Given the description of an element on the screen output the (x, y) to click on. 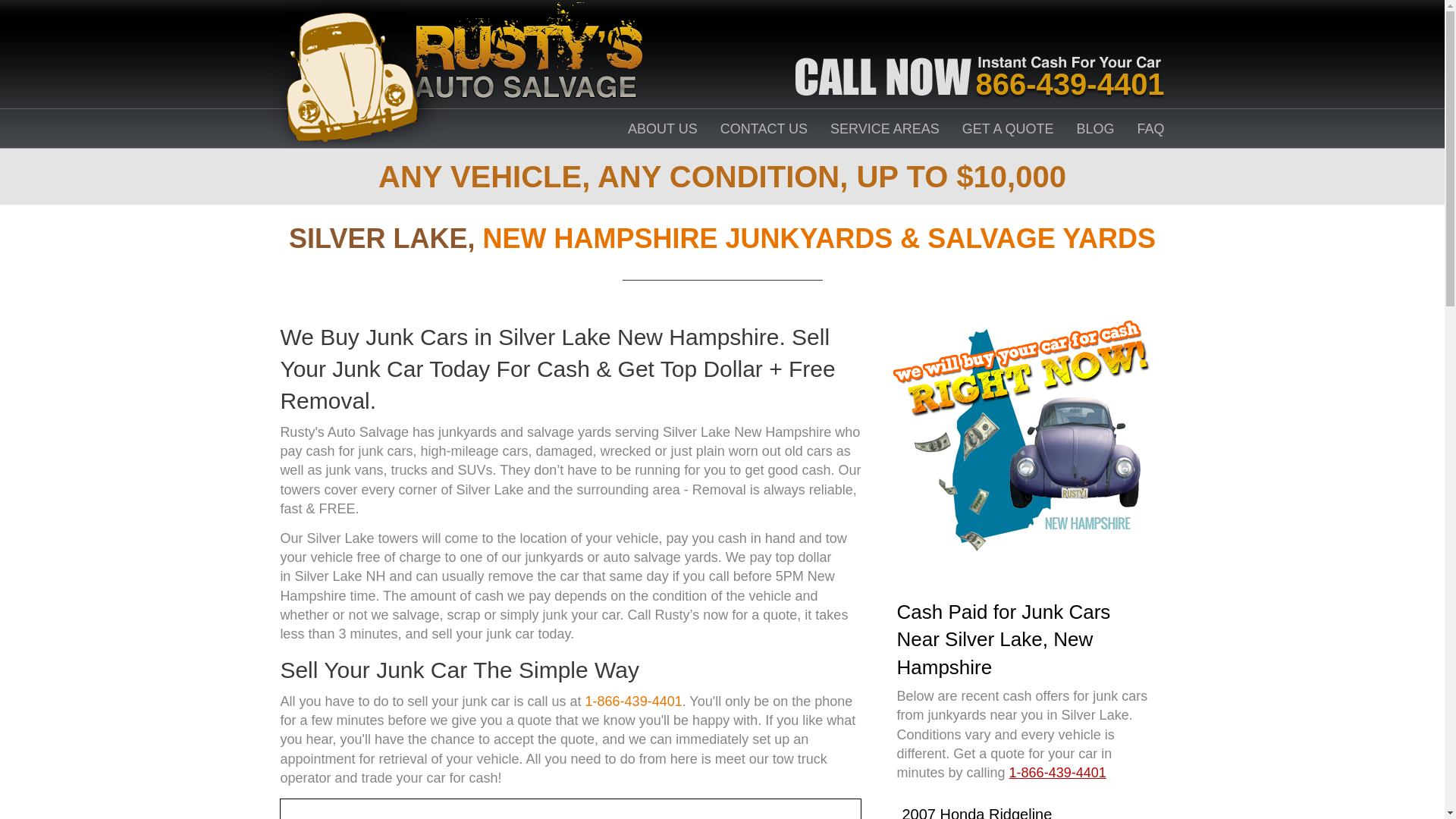
ABOUT US (662, 128)
SERVICE AREAS (884, 128)
CONTACT US (764, 128)
1-866-439-4401 (633, 701)
866-439-4401 (1069, 83)
FAQ (1150, 128)
GET A QUOTE (1008, 128)
BLOG (1096, 128)
1-866-439-4401 (1057, 772)
